Given the description of an element on the screen output the (x, y) to click on. 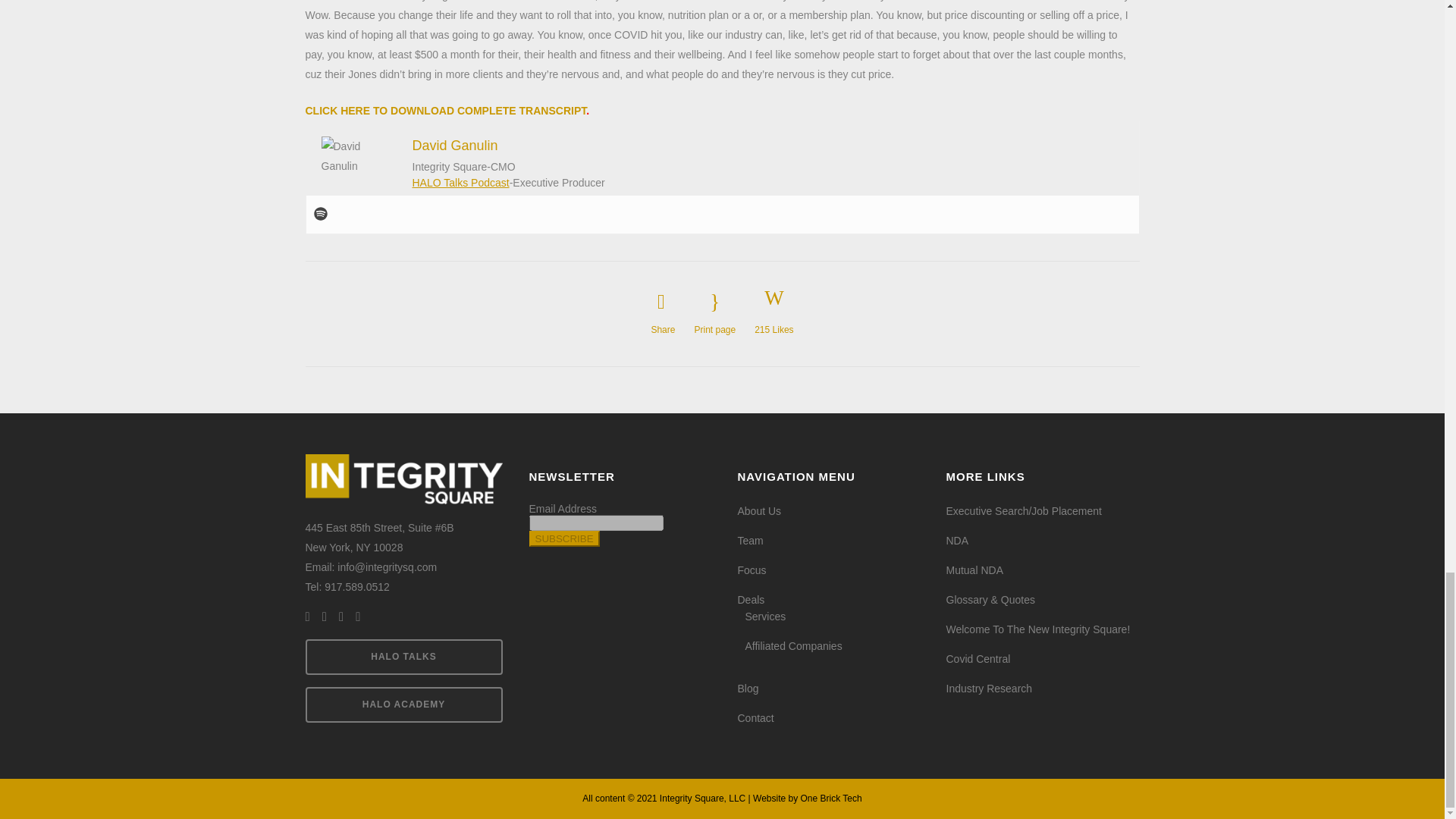
Spotify (320, 214)
CLICK HERE TO DOWNLOAD COMPLETE TRANSCRIPT (445, 110)
Print page (714, 312)
917.589.0512 (357, 586)
HALO Talks Podcast (460, 182)
David Ganulin (454, 145)
Subscribe (564, 538)
